Given the description of an element on the screen output the (x, y) to click on. 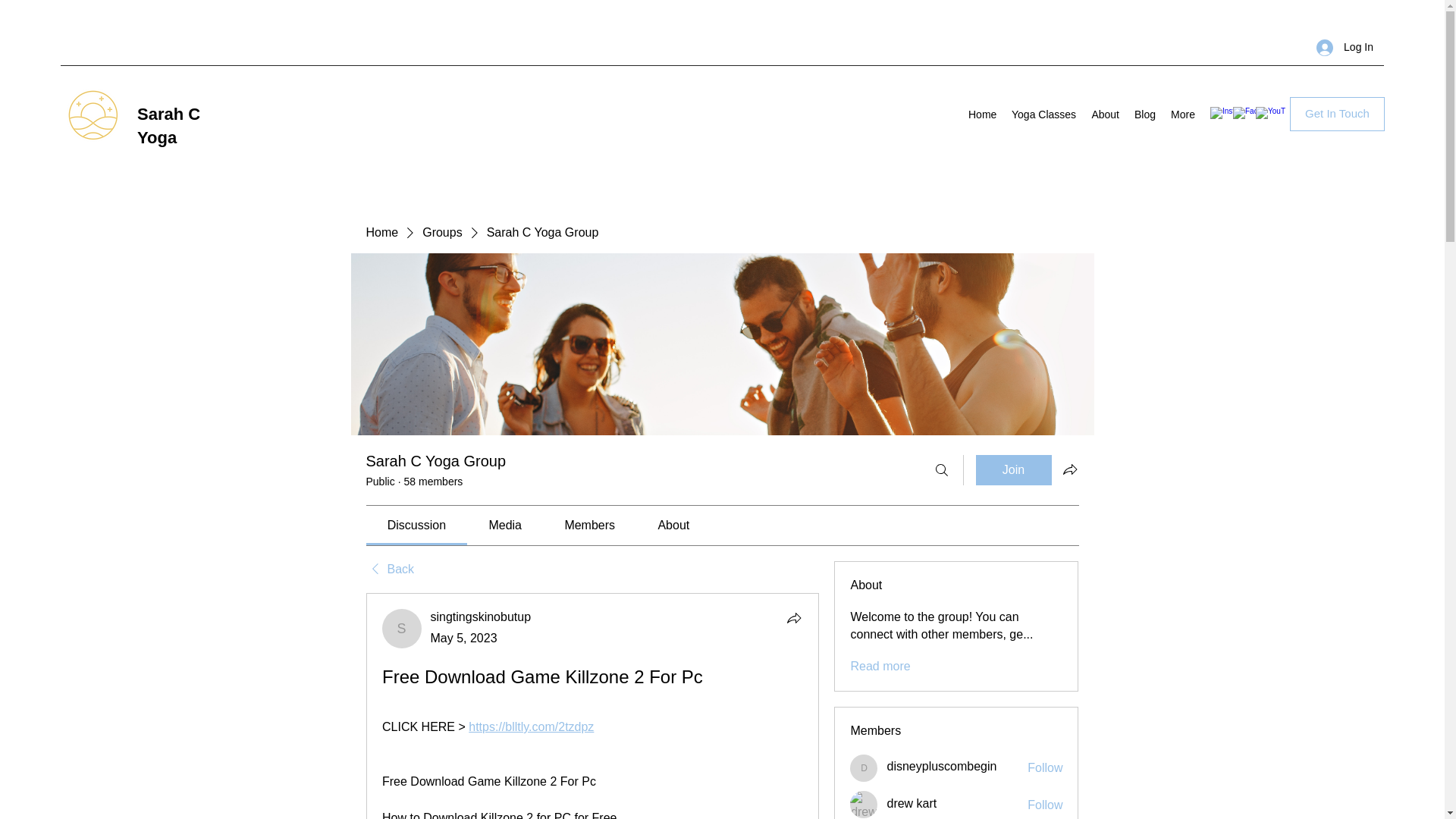
drew kart (863, 804)
Blog (1144, 114)
Home (982, 114)
Follow (1044, 768)
Follow (1044, 805)
Read more (880, 666)
disneypluscombegin (863, 768)
May 5, 2023 (463, 637)
disneypluscombegin (940, 766)
Home (381, 232)
